Given the description of an element on the screen output the (x, y) to click on. 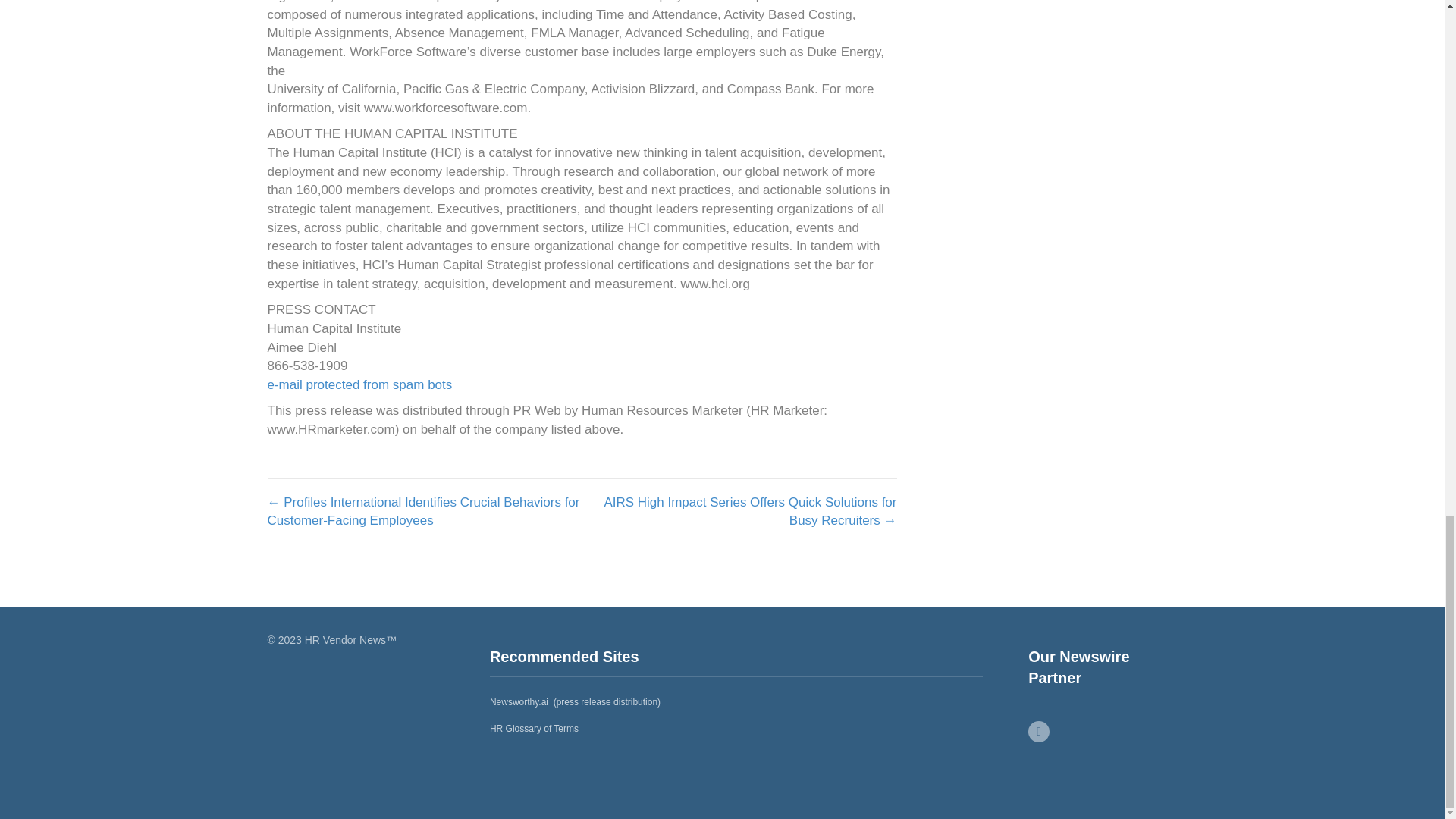
e-mail protected from spam bots (358, 384)
HR Glossary of Terms (533, 728)
